Given the description of an element on the screen output the (x, y) to click on. 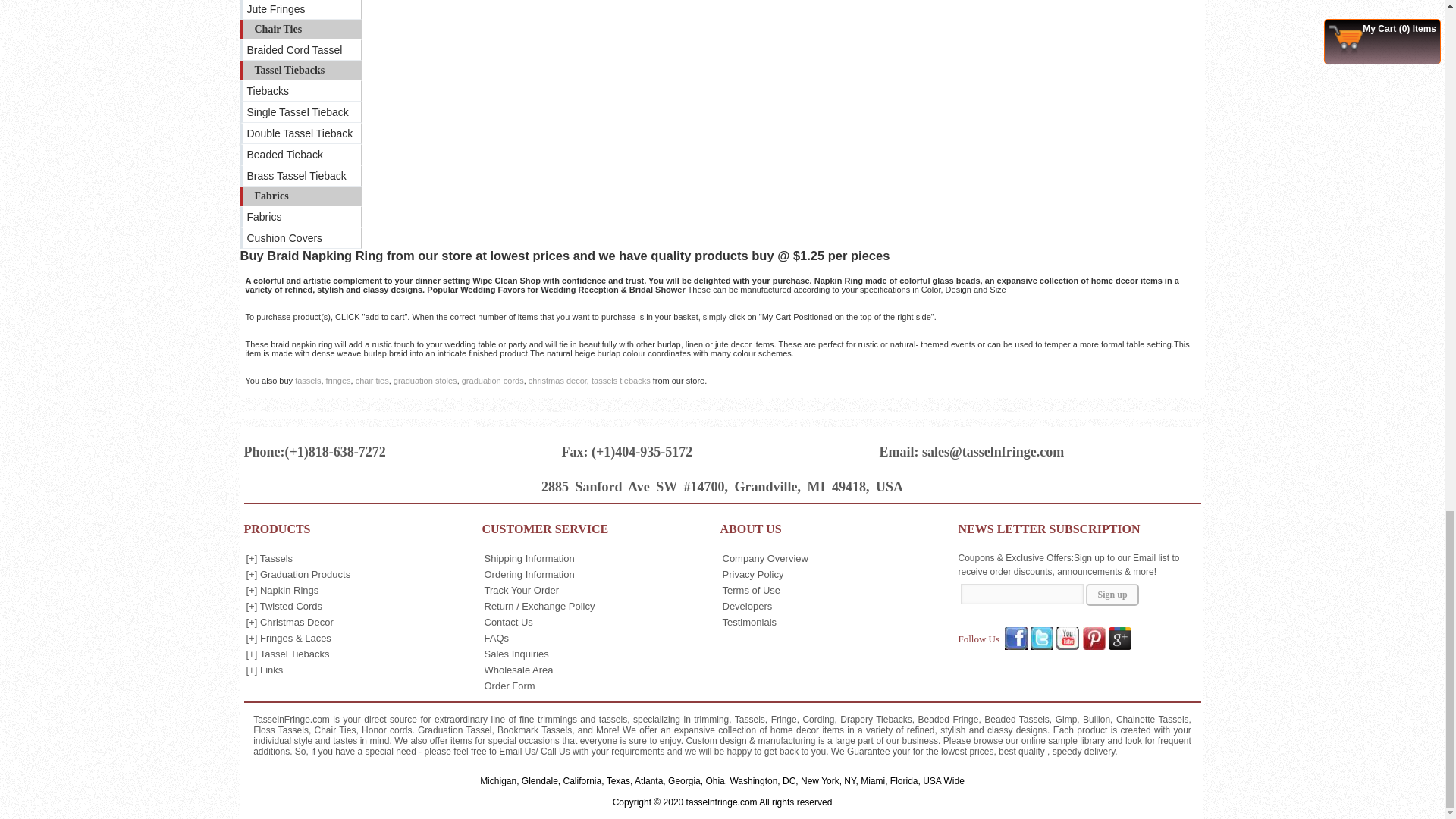
Sign up (1112, 594)
